Given the description of an element on the screen output the (x, y) to click on. 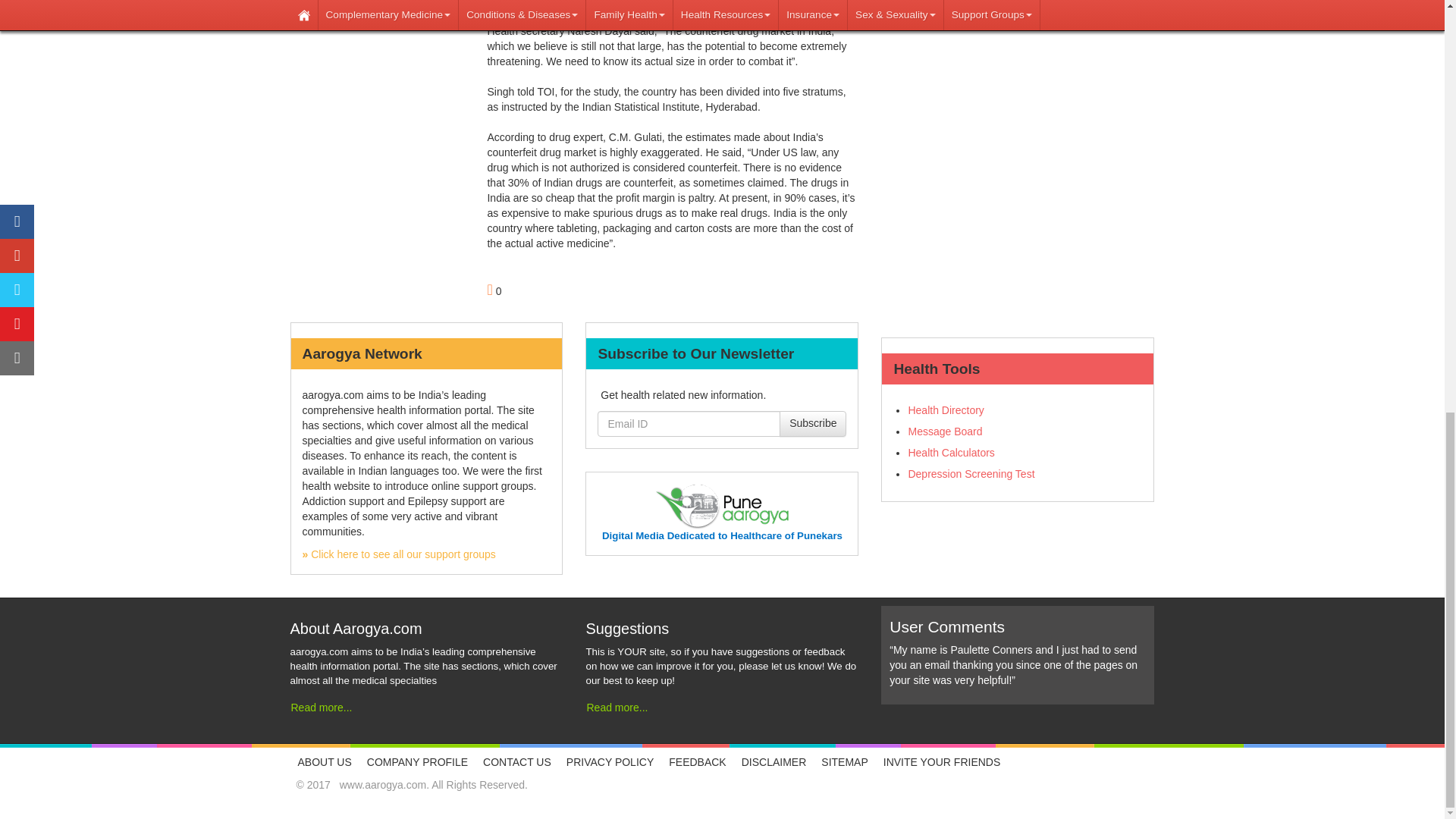
Advertisement (1017, 42)
Pune Aarogya (722, 535)
Pune Aarogya (722, 505)
Aarogya Network (398, 553)
